Given the description of an element on the screen output the (x, y) to click on. 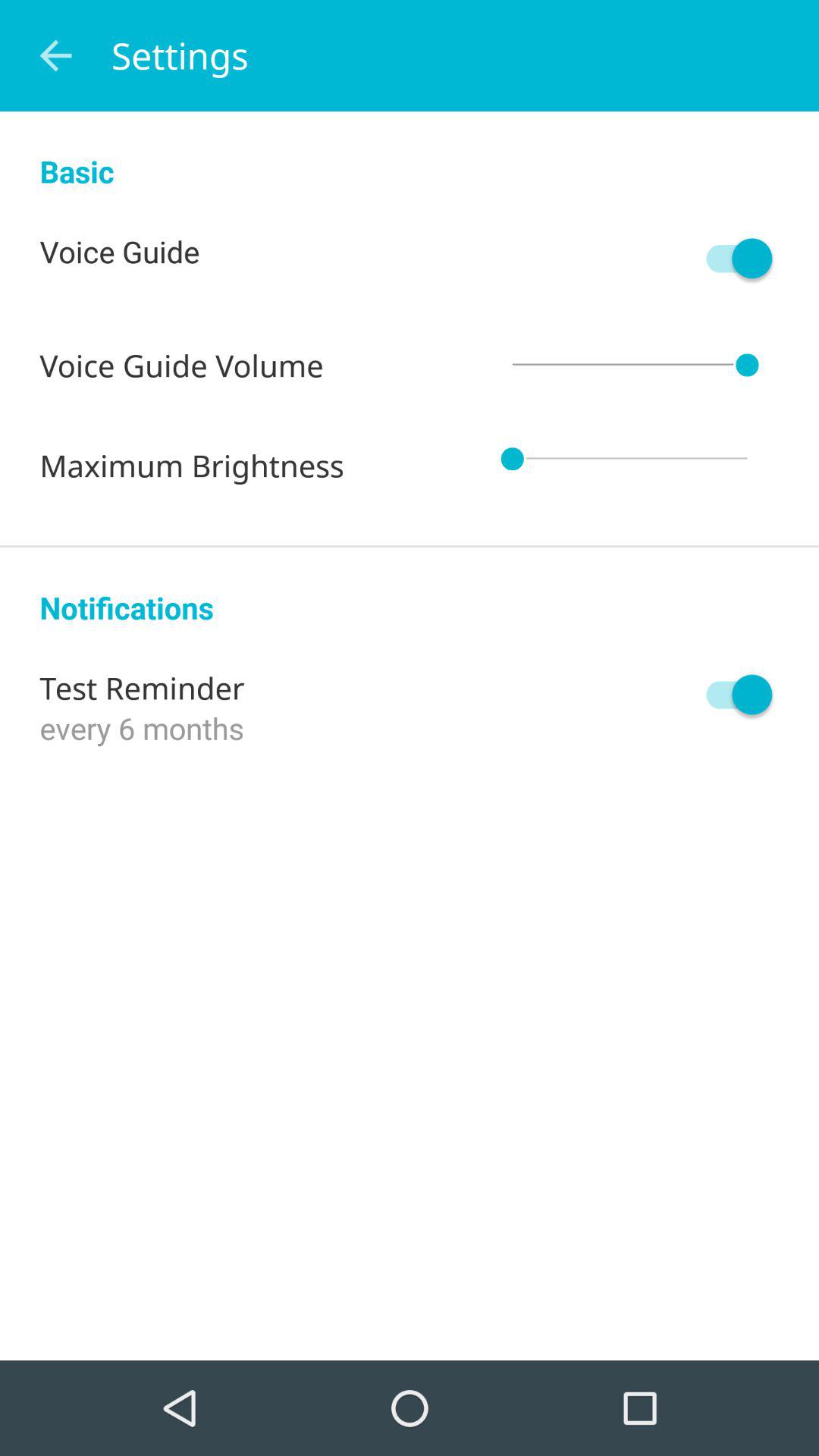
click the auto play (731, 694)
